Given the description of an element on the screen output the (x, y) to click on. 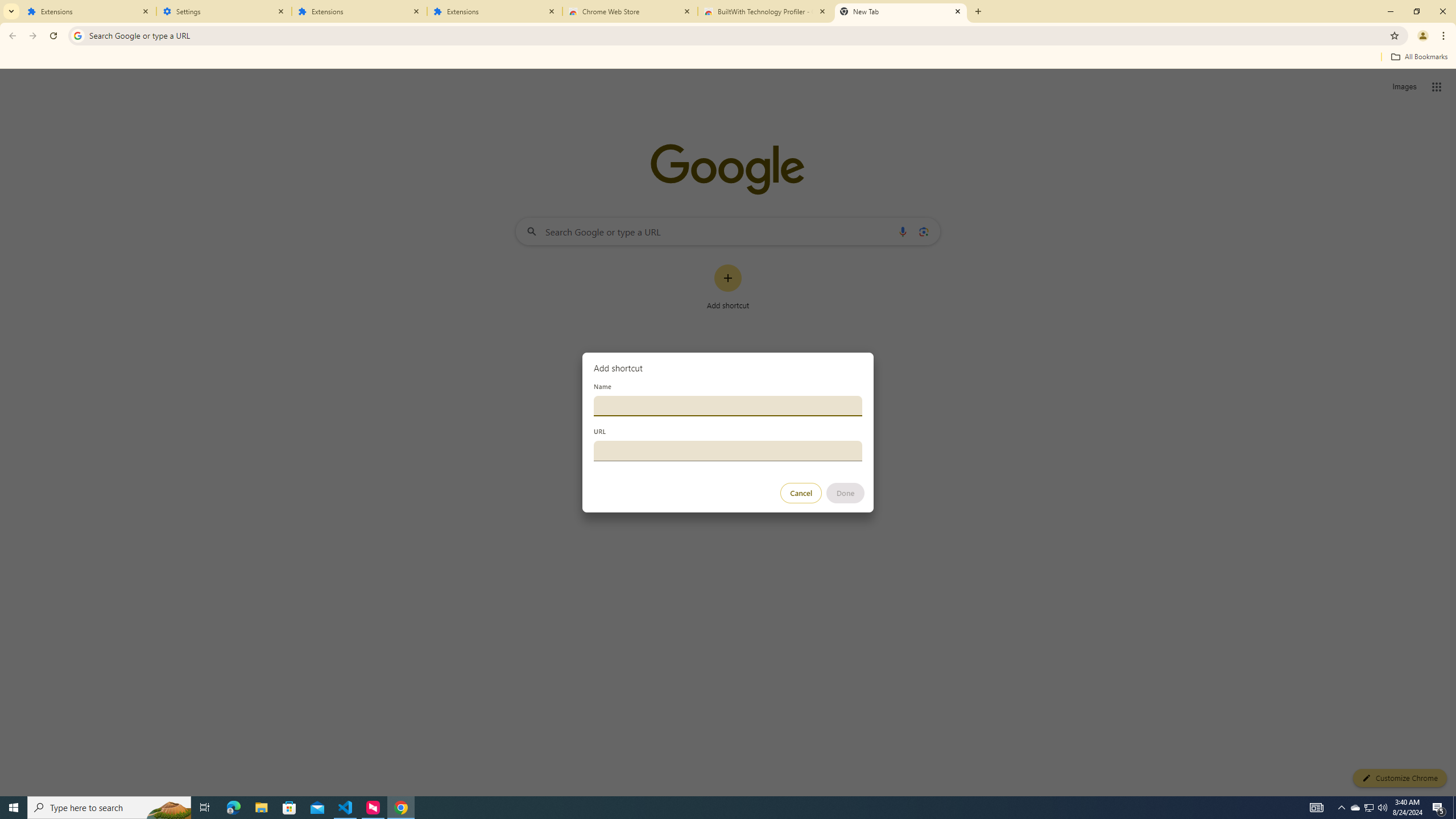
Extensions (359, 11)
Cancel (801, 493)
URL (727, 450)
Chrome Web Store (630, 11)
Extensions (494, 11)
